Given the description of an element on the screen output the (x, y) to click on. 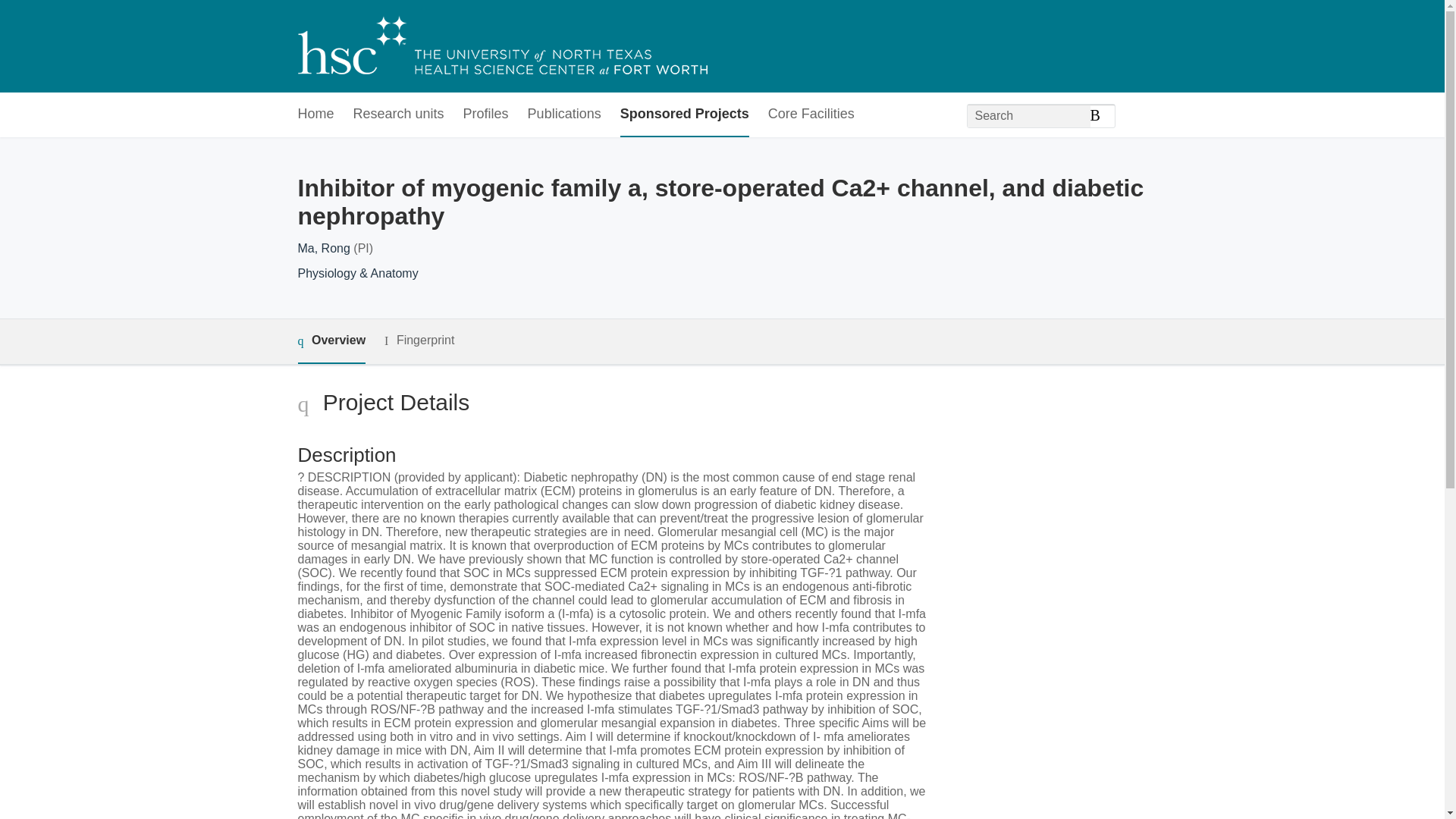
Research units (398, 114)
Profiles (485, 114)
Publications (564, 114)
Ma, Rong (323, 247)
Overview (331, 341)
Sponsored Projects (684, 114)
Core Facilities (811, 114)
Fingerprint (419, 340)
HSC Home (501, 45)
